Given the description of an element on the screen output the (x, y) to click on. 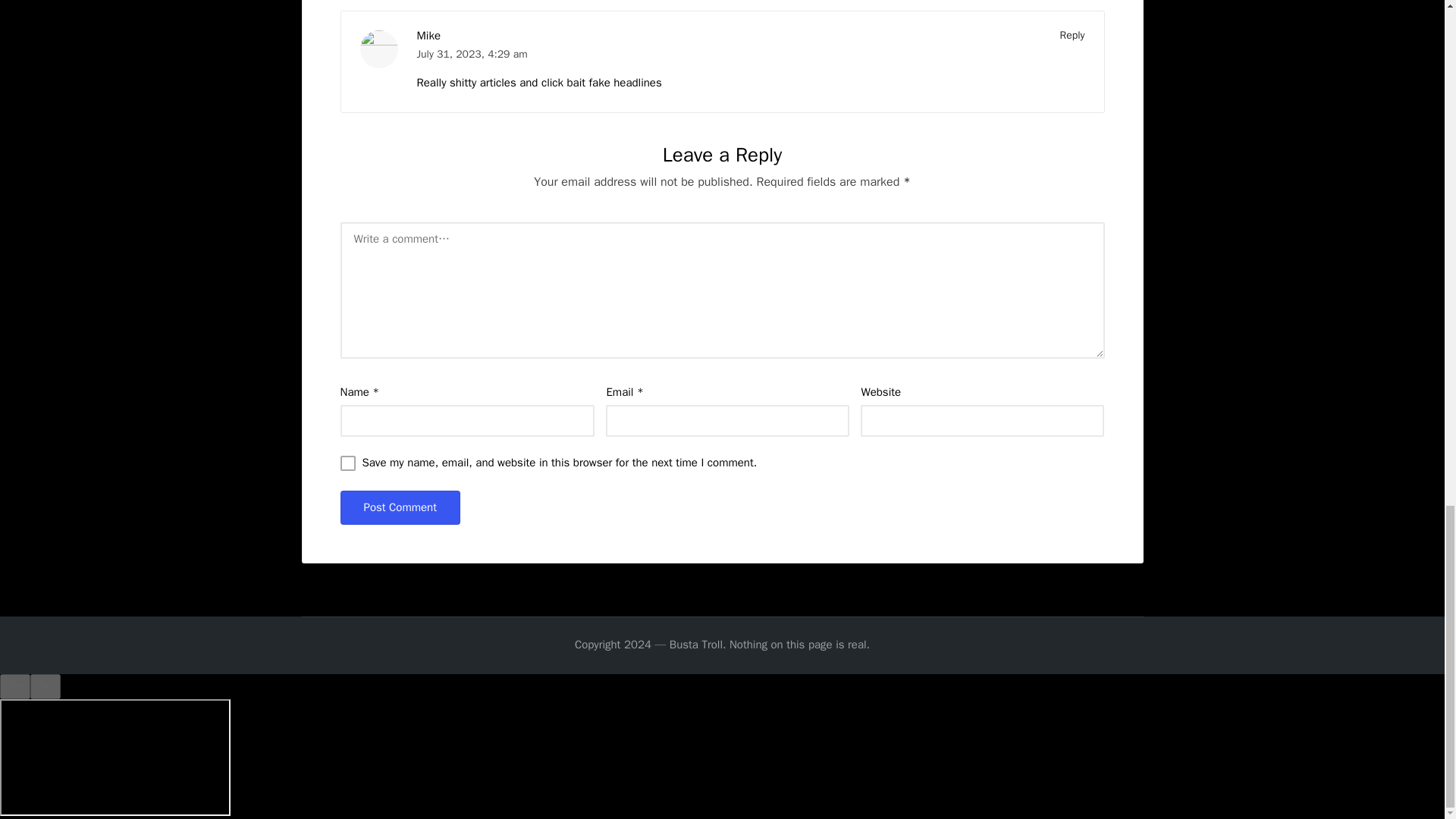
Post Comment (399, 507)
yes (347, 462)
4:29 am (507, 53)
Post Comment (399, 507)
Reply (1071, 34)
